Given the description of an element on the screen output the (x, y) to click on. 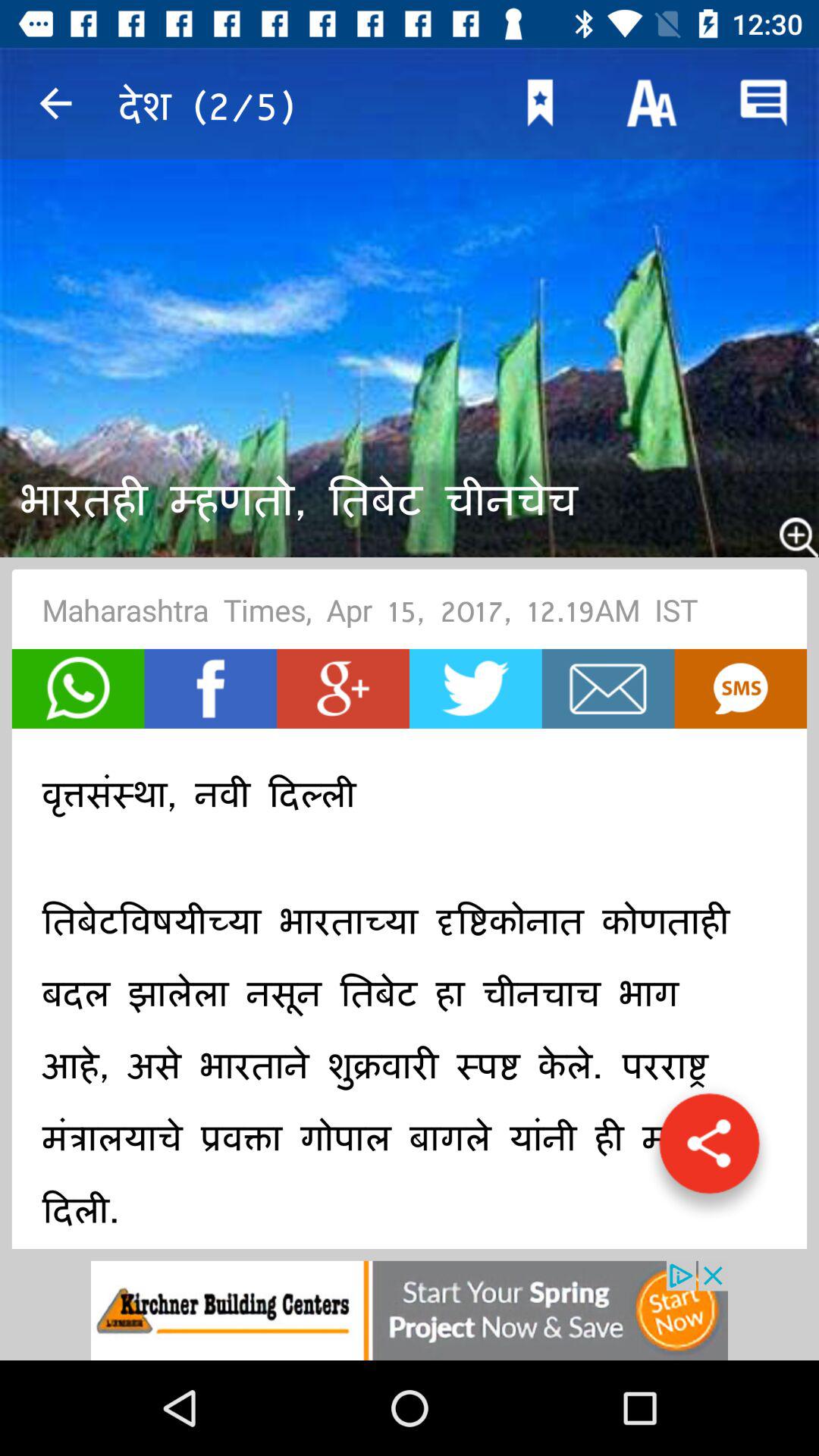
go to previous (55, 103)
